Given the description of an element on the screen output the (x, y) to click on. 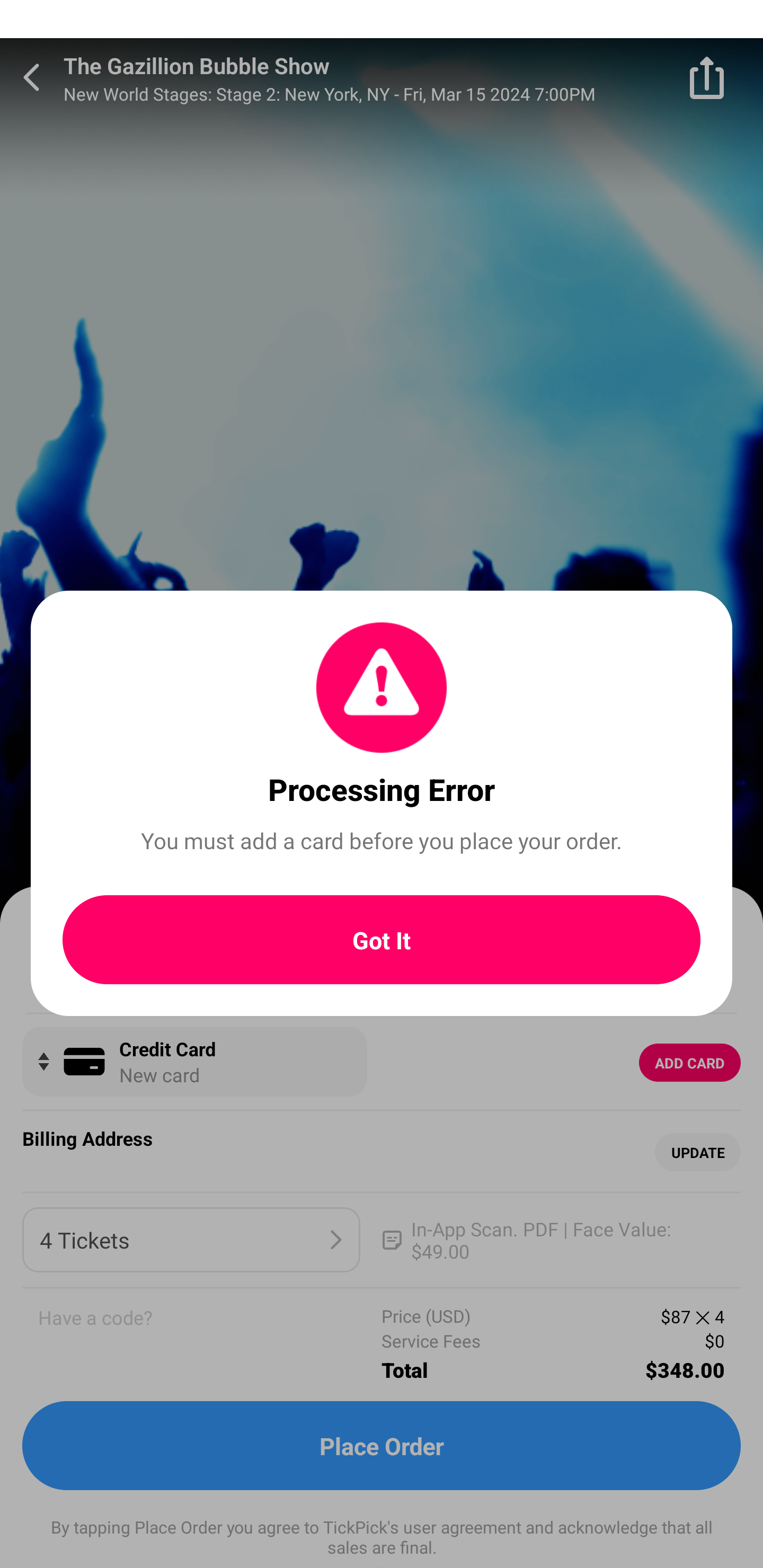
Got It (381, 939)
